Given the description of an element on the screen output the (x, y) to click on. 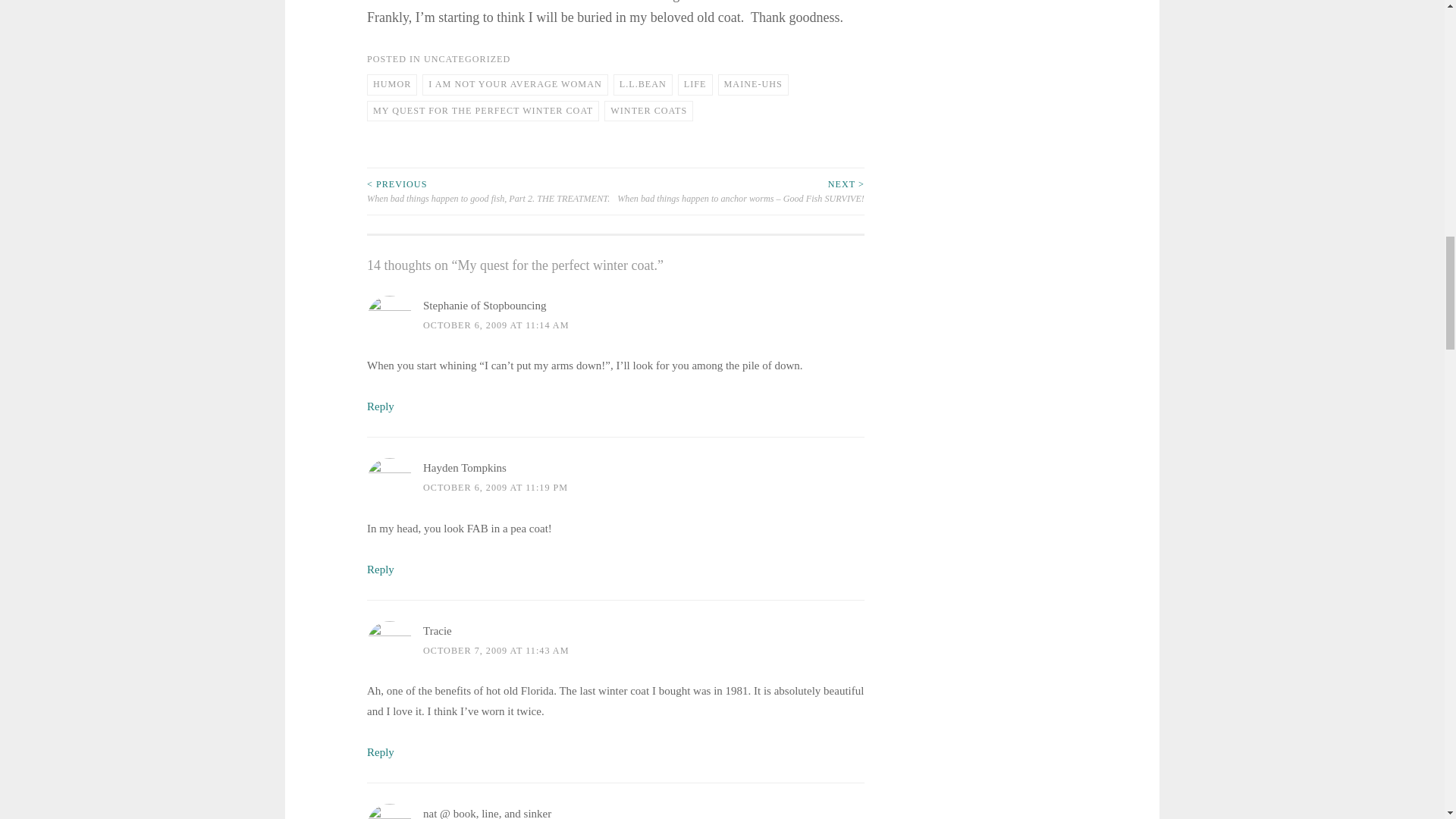
I AM NOT YOUR AVERAGE WOMAN (514, 84)
Hayden Tompkins (464, 467)
OCTOBER 7, 2009 AT 11:43 AM (496, 649)
Stephanie of Stopbouncing (484, 304)
MAINE-UHS (753, 84)
MY QUEST FOR THE PERFECT WINTER COAT (482, 111)
L.L.BEAN (642, 84)
LIFE (695, 84)
HUMOR (391, 84)
UNCATEGORIZED (467, 59)
